Given the description of an element on the screen output the (x, y) to click on. 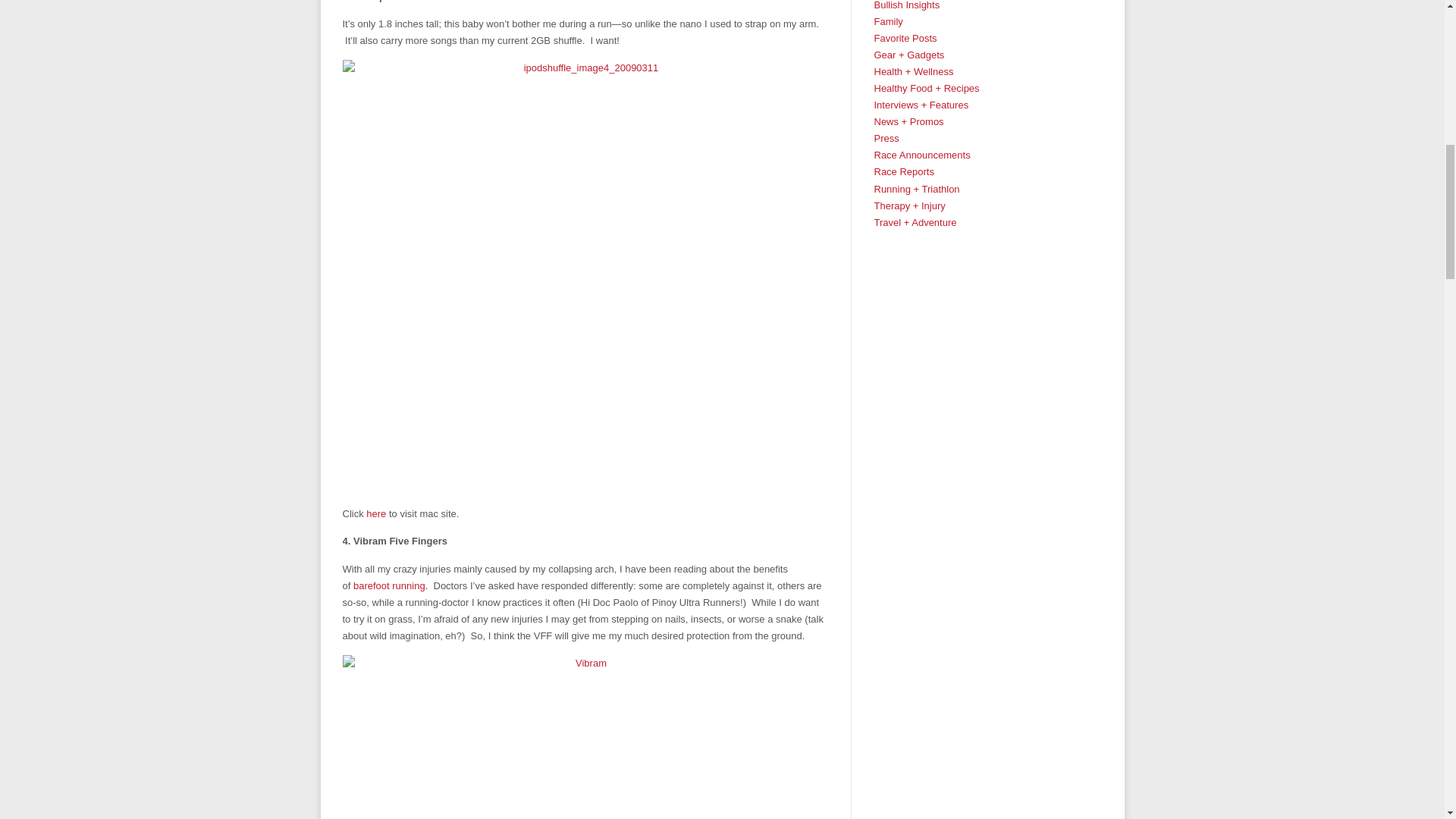
Barefoot running (389, 585)
here (377, 513)
shuffle (377, 513)
barefoot running (389, 585)
Vibram by JPizarro2008, on Flickr (585, 737)
